Given the description of an element on the screen output the (x, y) to click on. 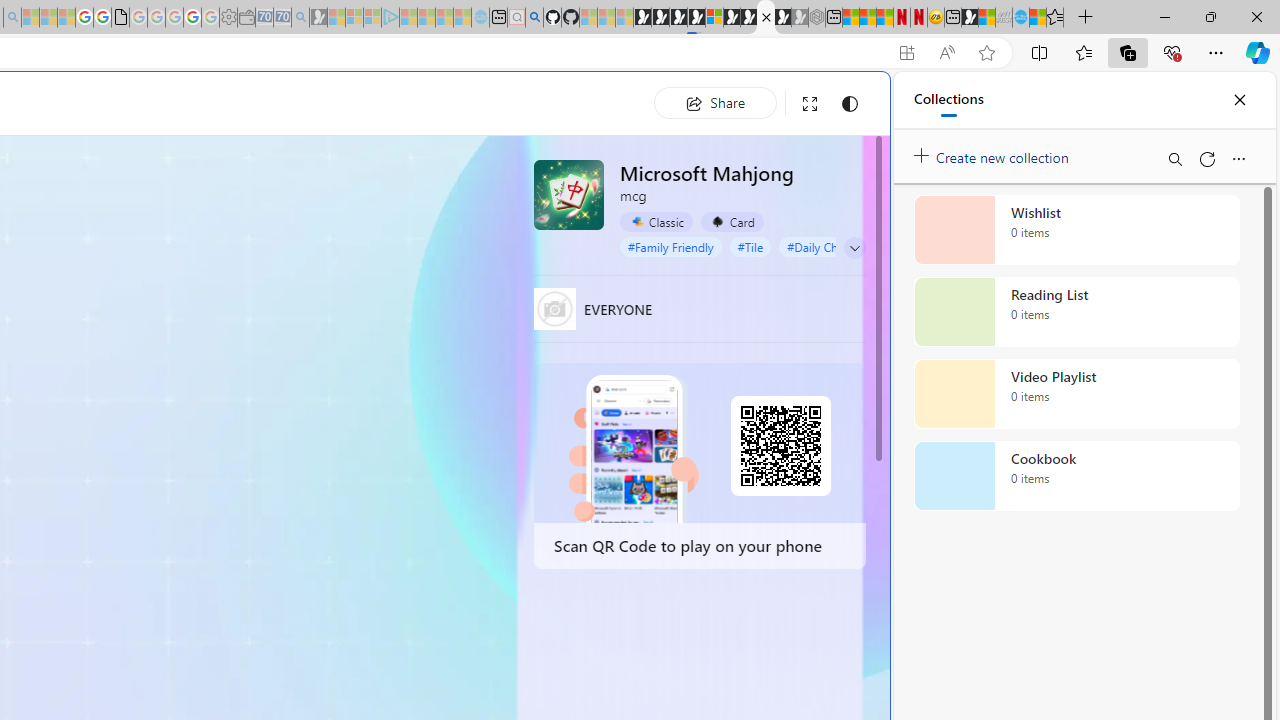
Card (732, 222)
Cookbook collection, 0 items (1076, 475)
Card (732, 221)
